Given the description of an element on the screen output the (x, y) to click on. 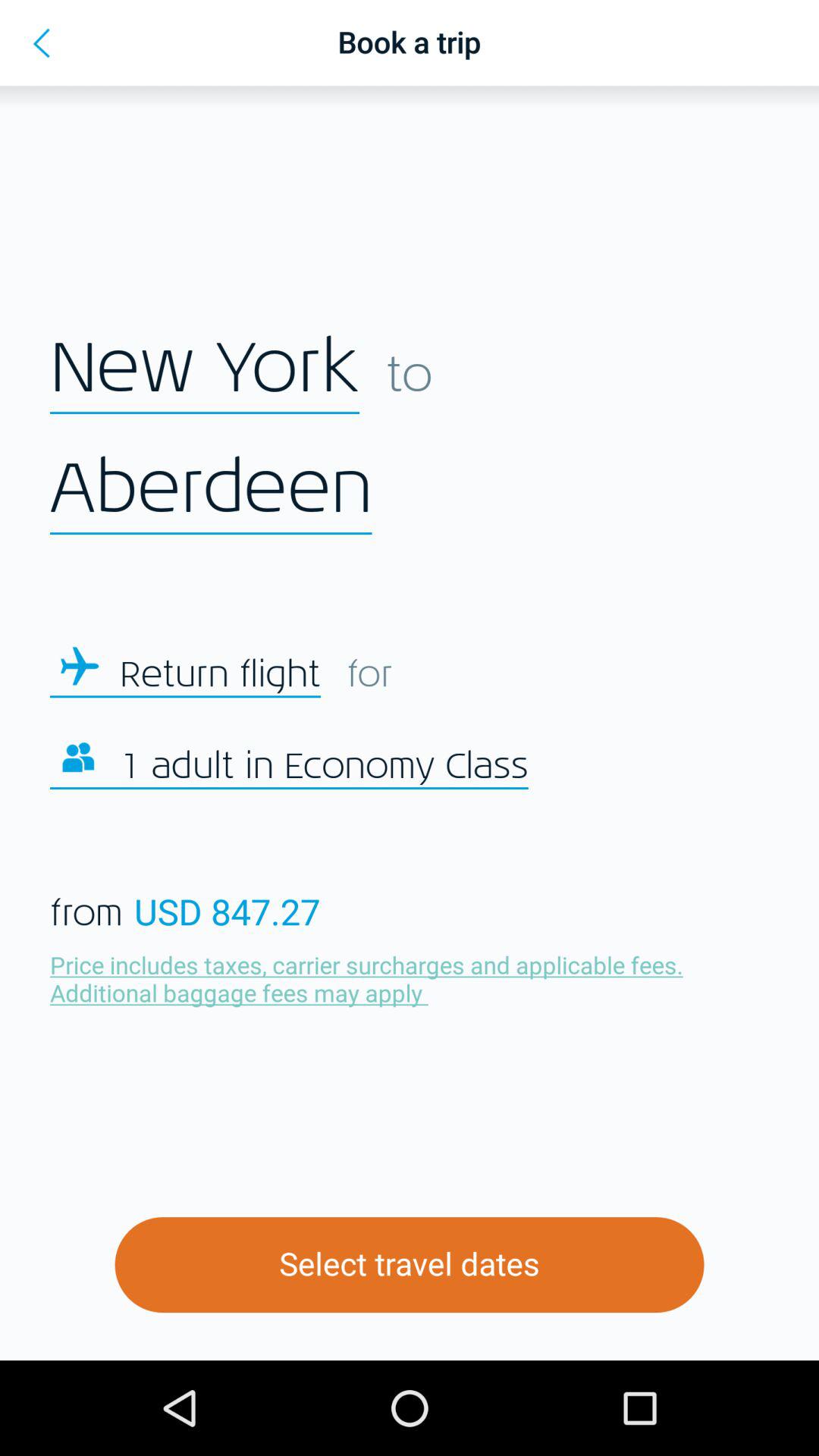
open icon above the 1 adult in (220, 674)
